Given the description of an element on the screen output the (x, y) to click on. 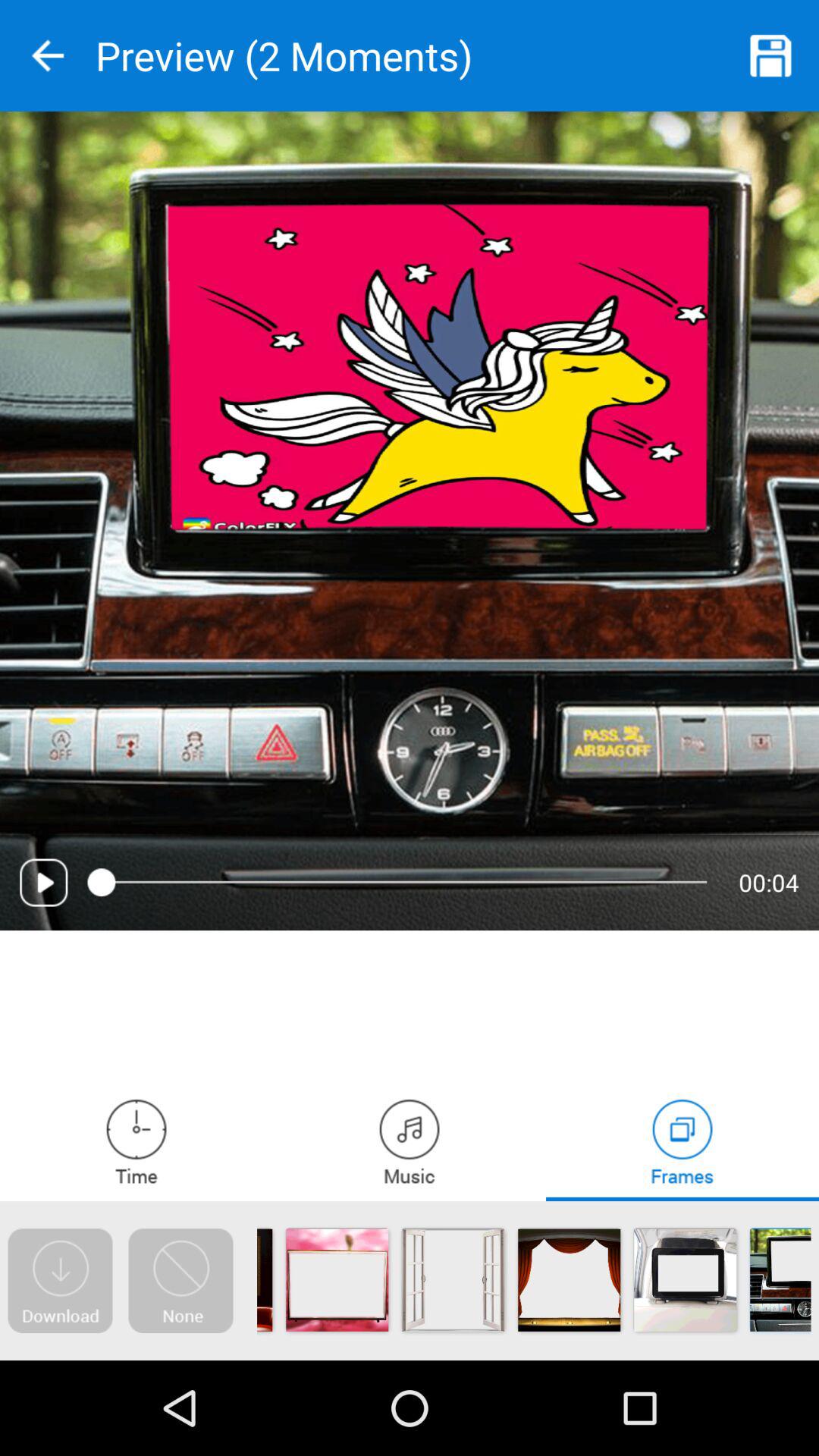
save file (771, 55)
